Given the description of an element on the screen output the (x, y) to click on. 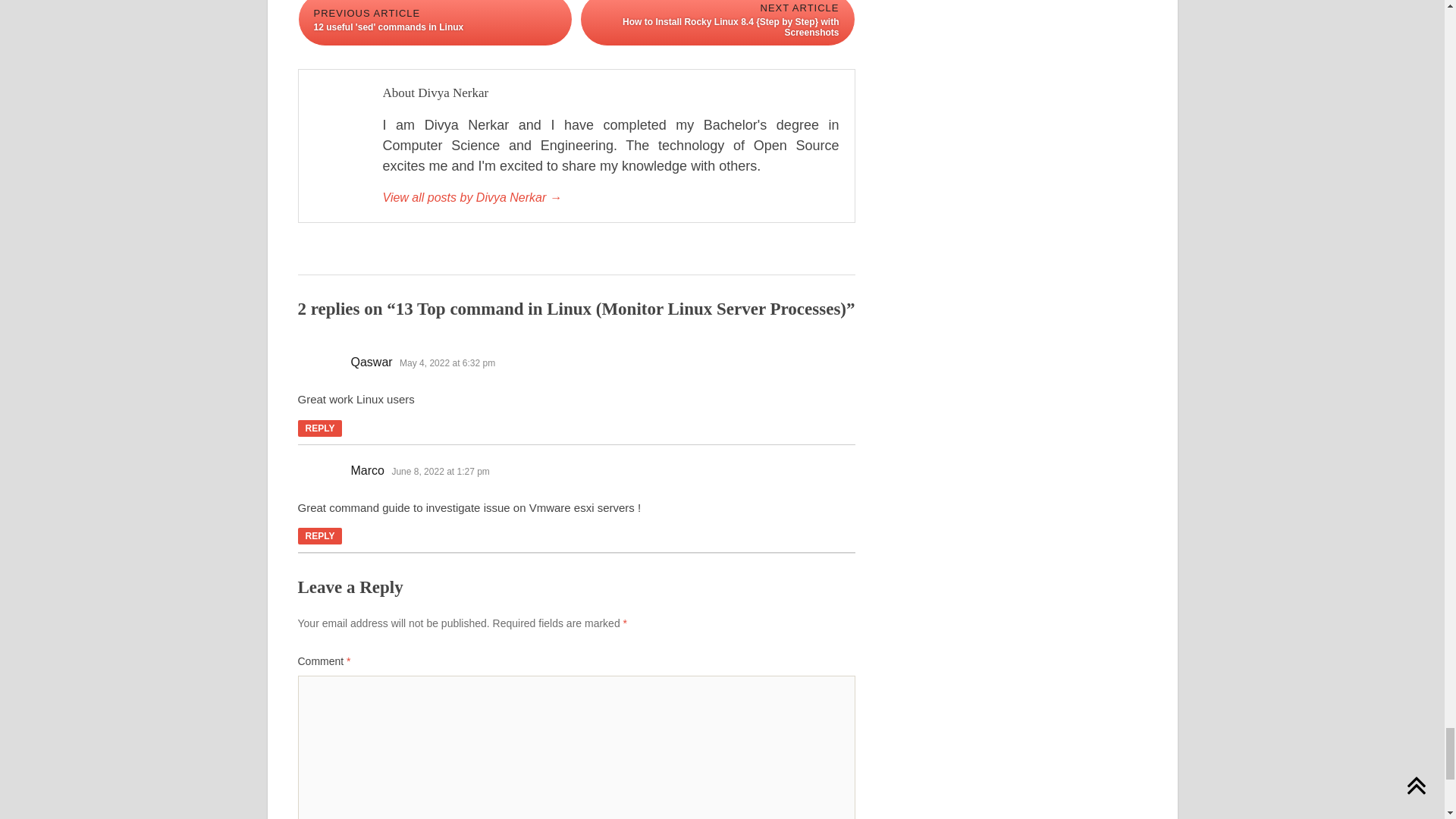
REPLY (319, 535)
REPLY (319, 428)
